Given the description of an element on the screen output the (x, y) to click on. 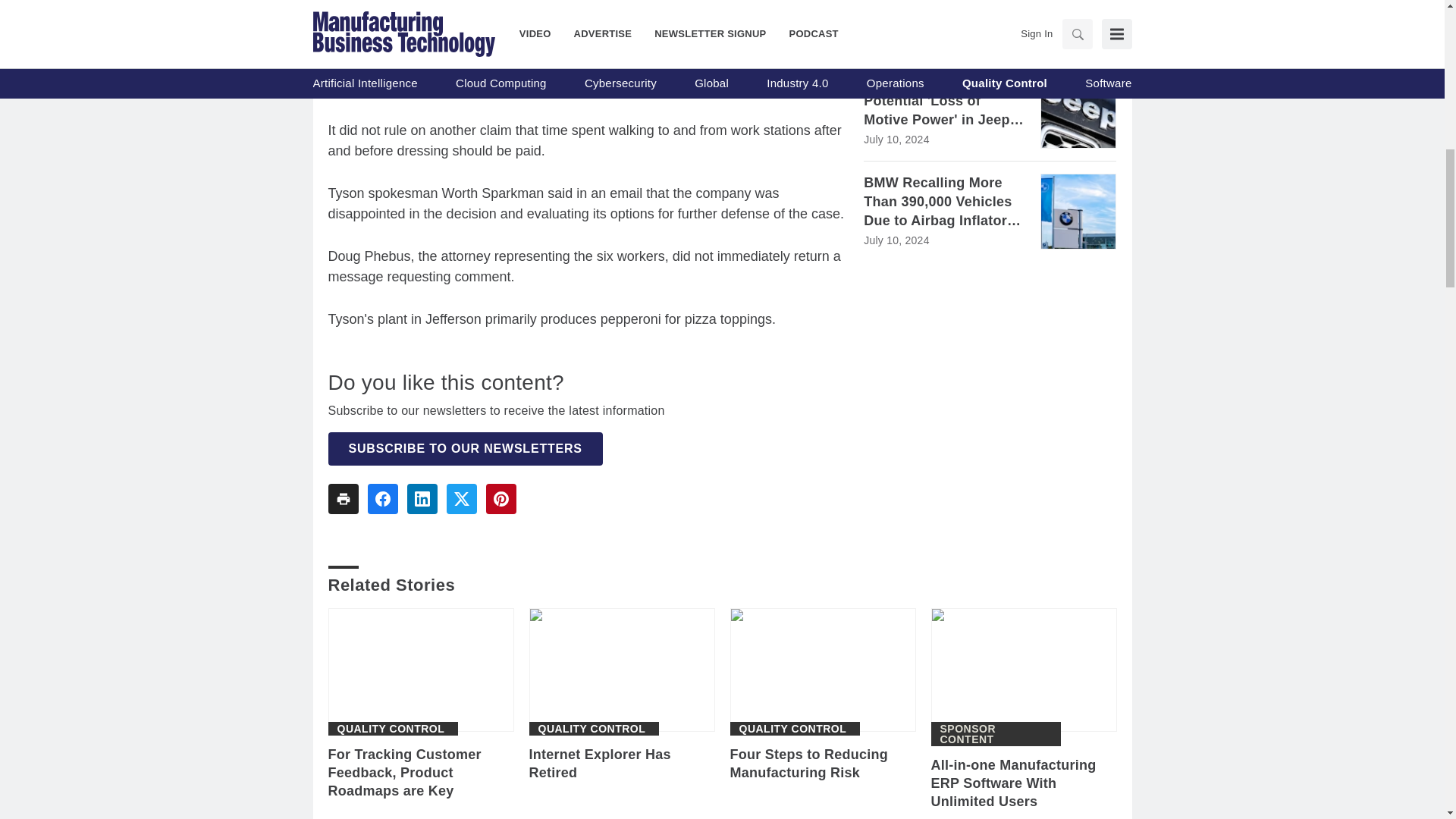
Quality Control (592, 728)
Quality Control (390, 728)
Share To twitter (460, 499)
Sponsor Content (996, 733)
Quality Control (791, 728)
Share To facebook (381, 499)
Share To linkedin (421, 499)
Share To print (342, 499)
Share To pinterest (499, 499)
